Given the description of an element on the screen output the (x, y) to click on. 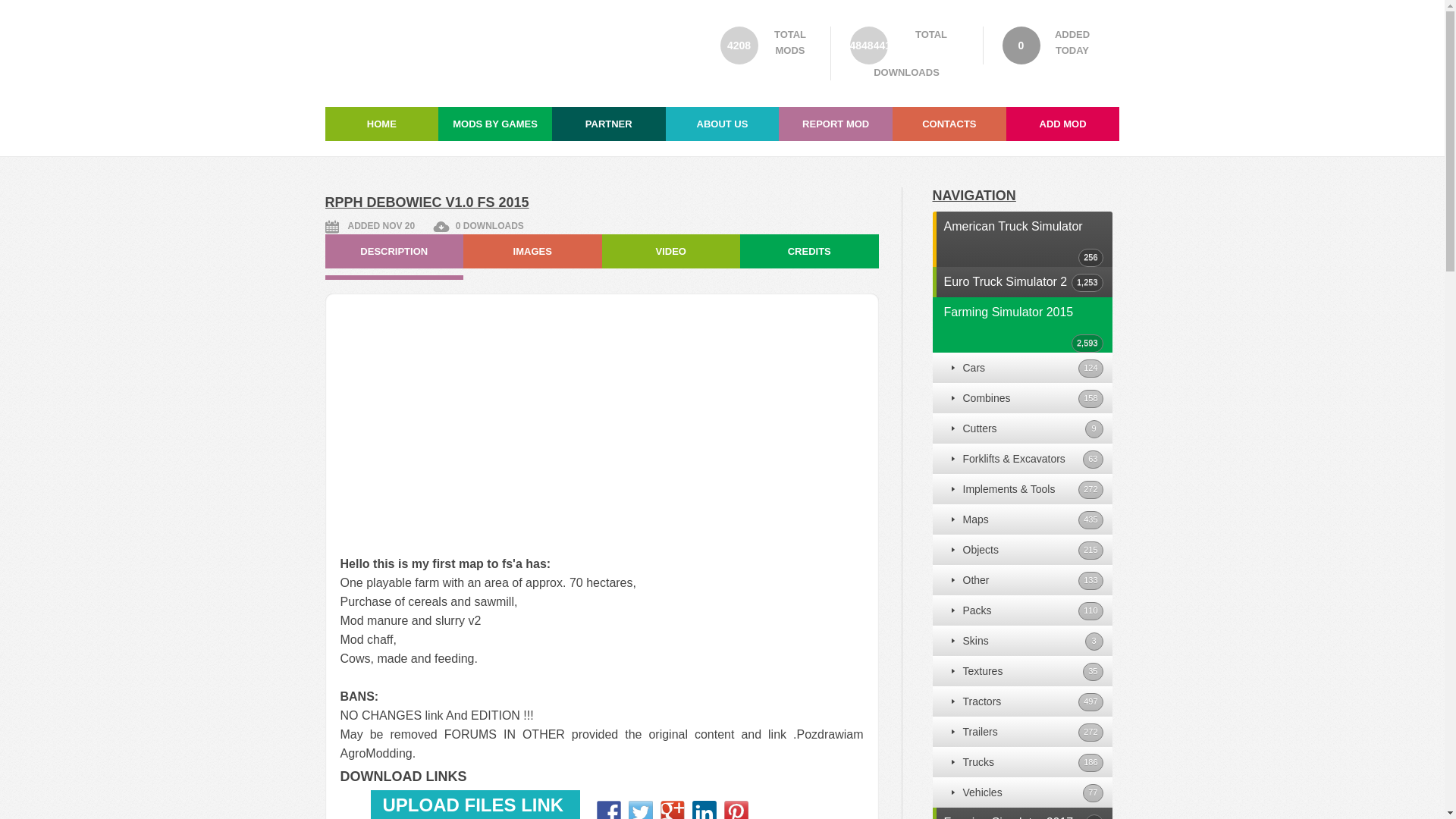
MODS BY GAMES (494, 123)
American Truck Simulator (1008, 226)
ABOUT US (721, 123)
REPORT MOD (835, 123)
UPLOAD FILES LINK (474, 804)
Euro Truck Simulator 2 (1001, 281)
HOME (381, 123)
CONTACTS (949, 123)
ADD MOD (1062, 123)
PARTNER (608, 123)
